Given the description of an element on the screen output the (x, y) to click on. 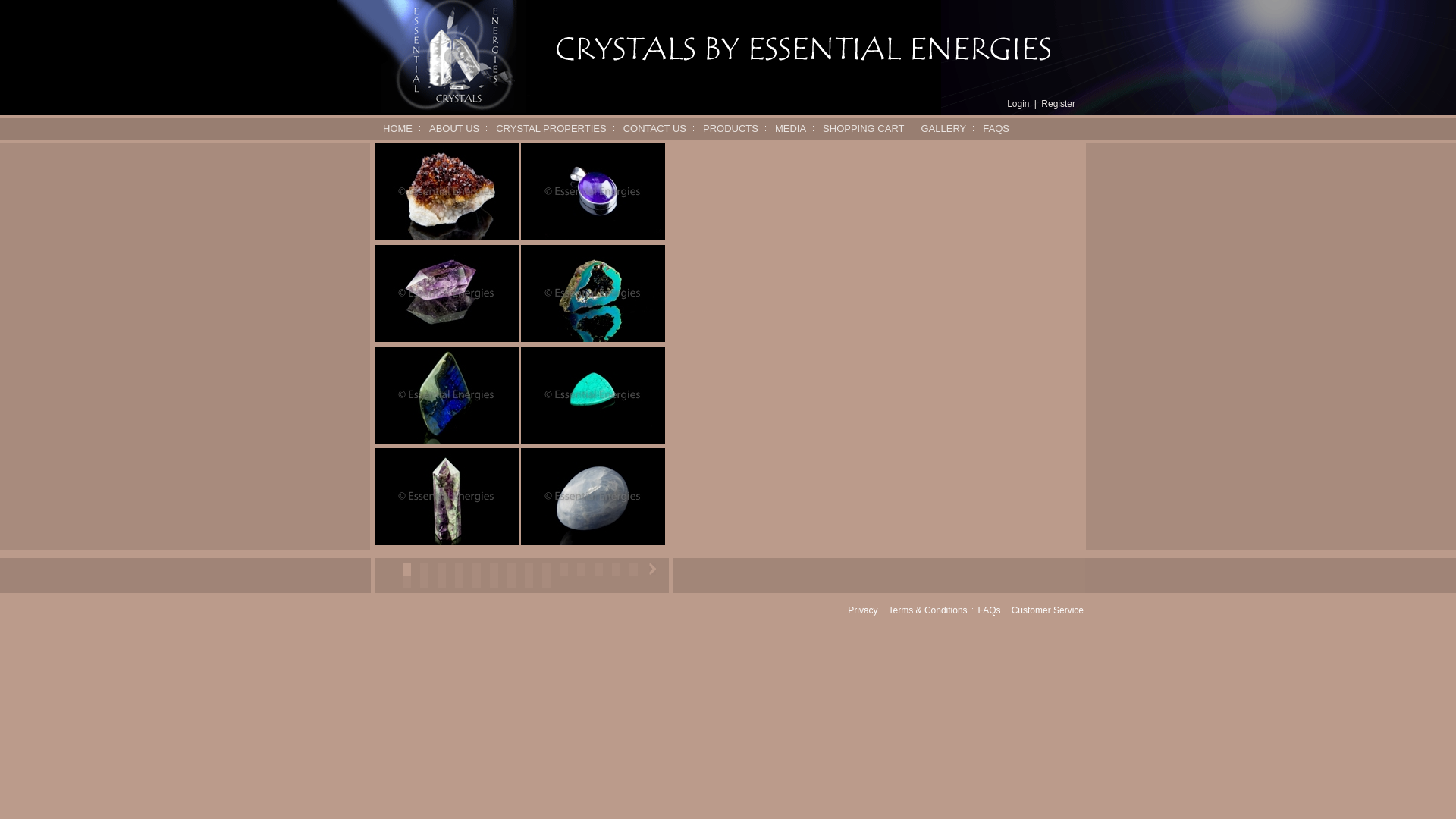
Customer Service Element type: text (1047, 610)
Privacy Element type: text (862, 610)
Ametrine double point #  6 Element type: hover (446, 293)
Celestite Egg, smooth Element type: hover (592, 496)
CONTACT US Element type: text (654, 128)
Crystals by essential energies Element type: hover (436, 109)
Fluorite Obelisque # 1 Element type: hover (446, 496)
GALLERY Element type: text (943, 128)
Labradorite Blue # 1 Element type: hover (446, 394)
Terms & Conditions Element type: text (927, 610)
Amethyst round pendant Element type: hover (592, 191)
Agate Keyhole Element type: hover (592, 293)
Crystals by essential energies Element type: text (803, 48)
MEDIA Element type: text (790, 128)
ABOUT US Element type: text (453, 128)
SlideLeft Element type: text (652, 568)
FAQs Element type: text (989, 610)
CRYSTAL PROPERTIES Element type: text (550, 128)
Citrine Cluster 1 Element type: hover (446, 191)
PRODUCTS Element type: text (730, 128)
Turqoise Triangle Crystal Element type: hover (592, 394)
SHOPPING CART Element type: text (863, 128)
HOME Element type: text (397, 128)
FAQS Element type: text (995, 128)
Login Element type: text (1017, 103)
Register Element type: text (1057, 103)
